Given the description of an element on the screen output the (x, y) to click on. 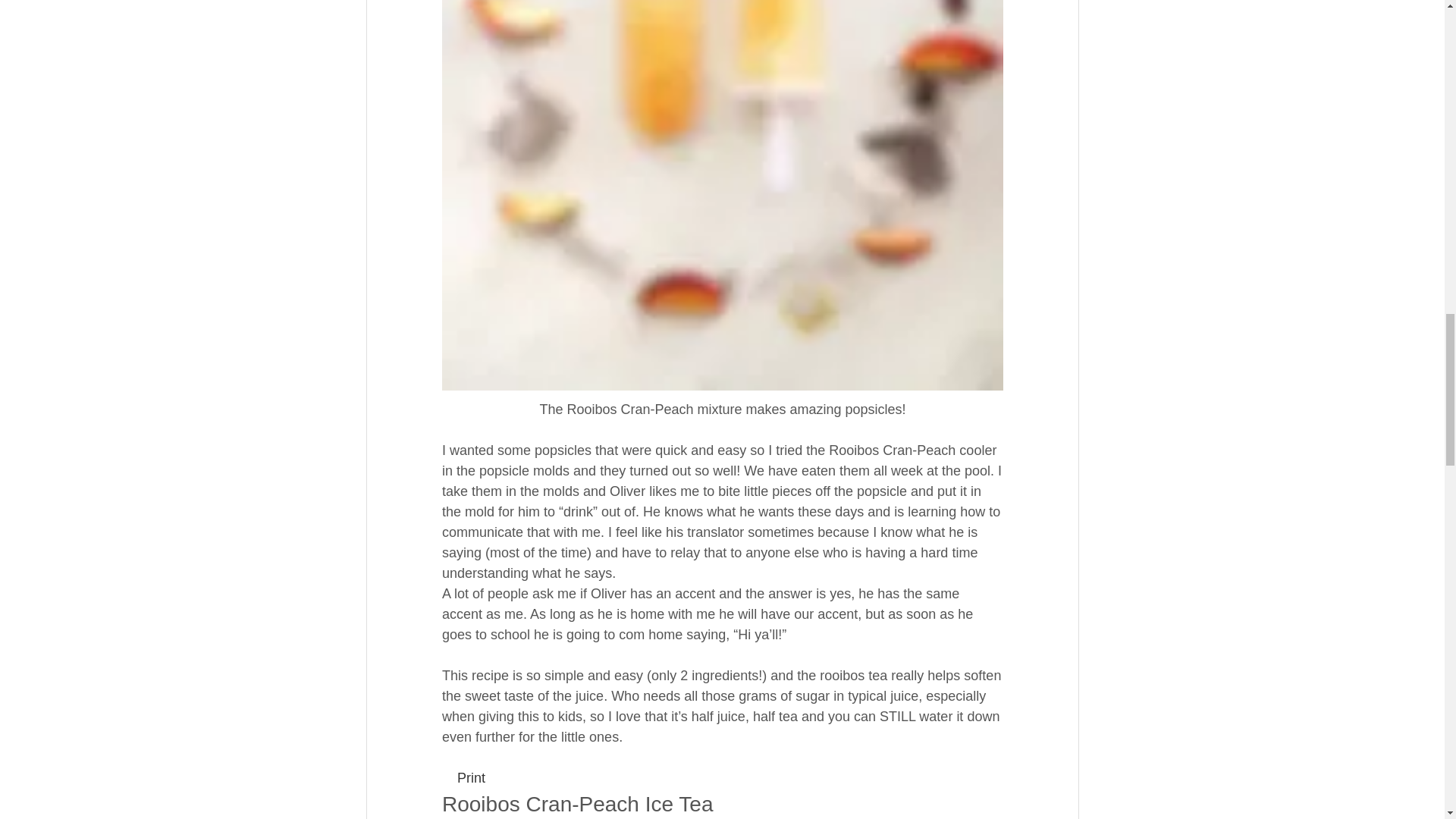
 Print (468, 777)
